Given the description of an element on the screen output the (x, y) to click on. 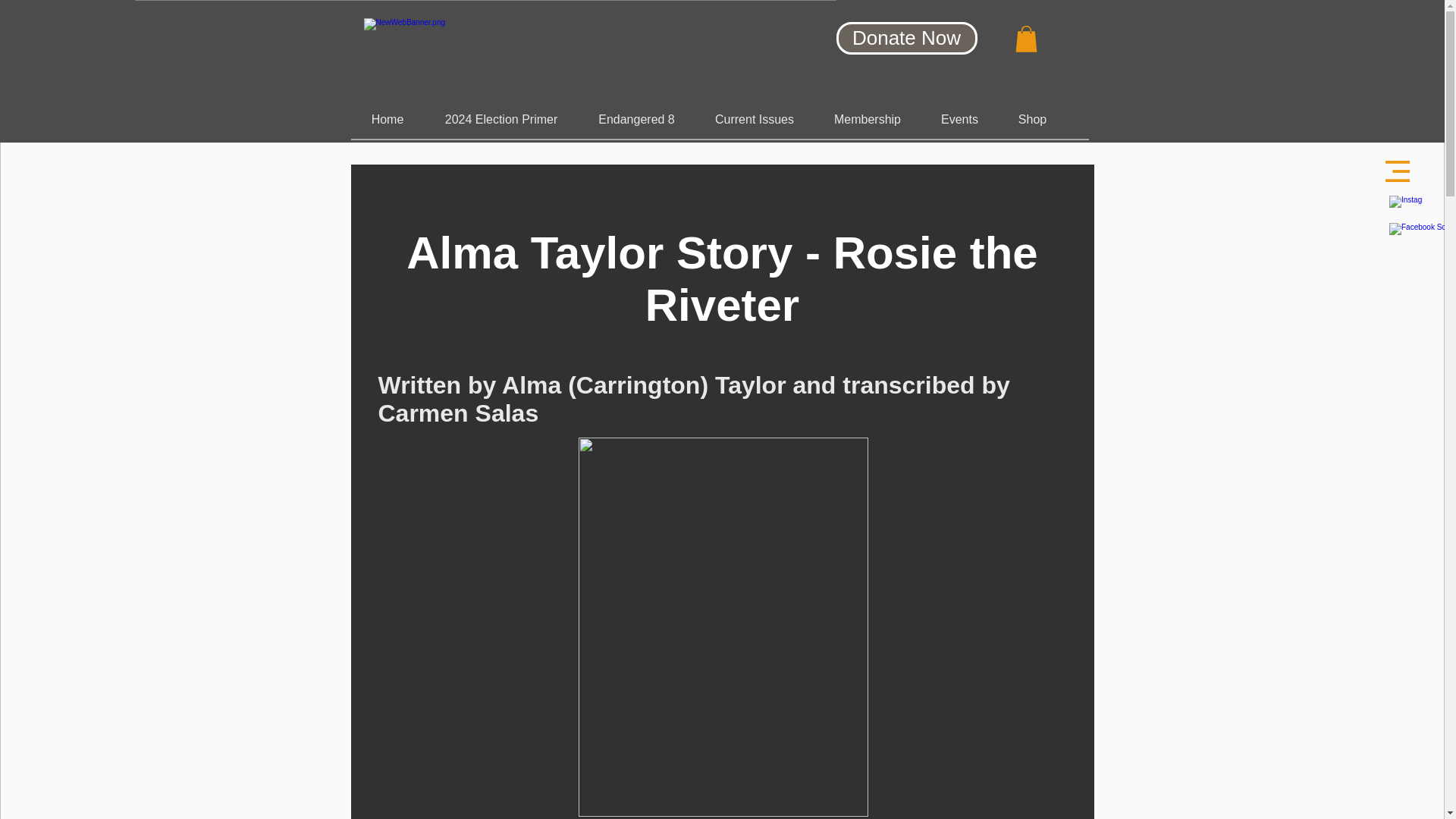
Shop (1031, 119)
Donate Now (905, 38)
Events (958, 119)
Home (386, 119)
2024 Election Primer (501, 119)
